Given the description of an element on the screen output the (x, y) to click on. 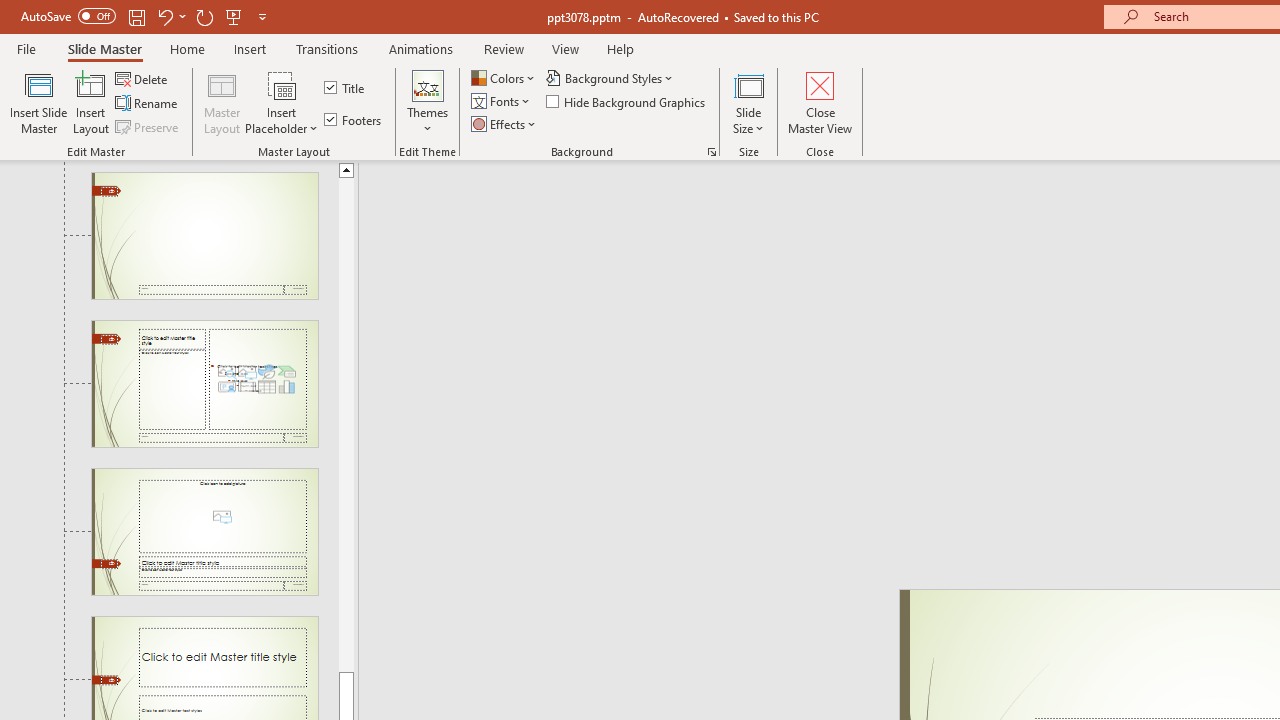
Slide Master (104, 48)
Background Styles (610, 78)
Slide Picture with Caption Layout: used by no slides (204, 531)
Hide Background Graphics (626, 101)
Master Layout... (221, 102)
Close Master View (820, 102)
